Given the description of an element on the screen output the (x, y) to click on. 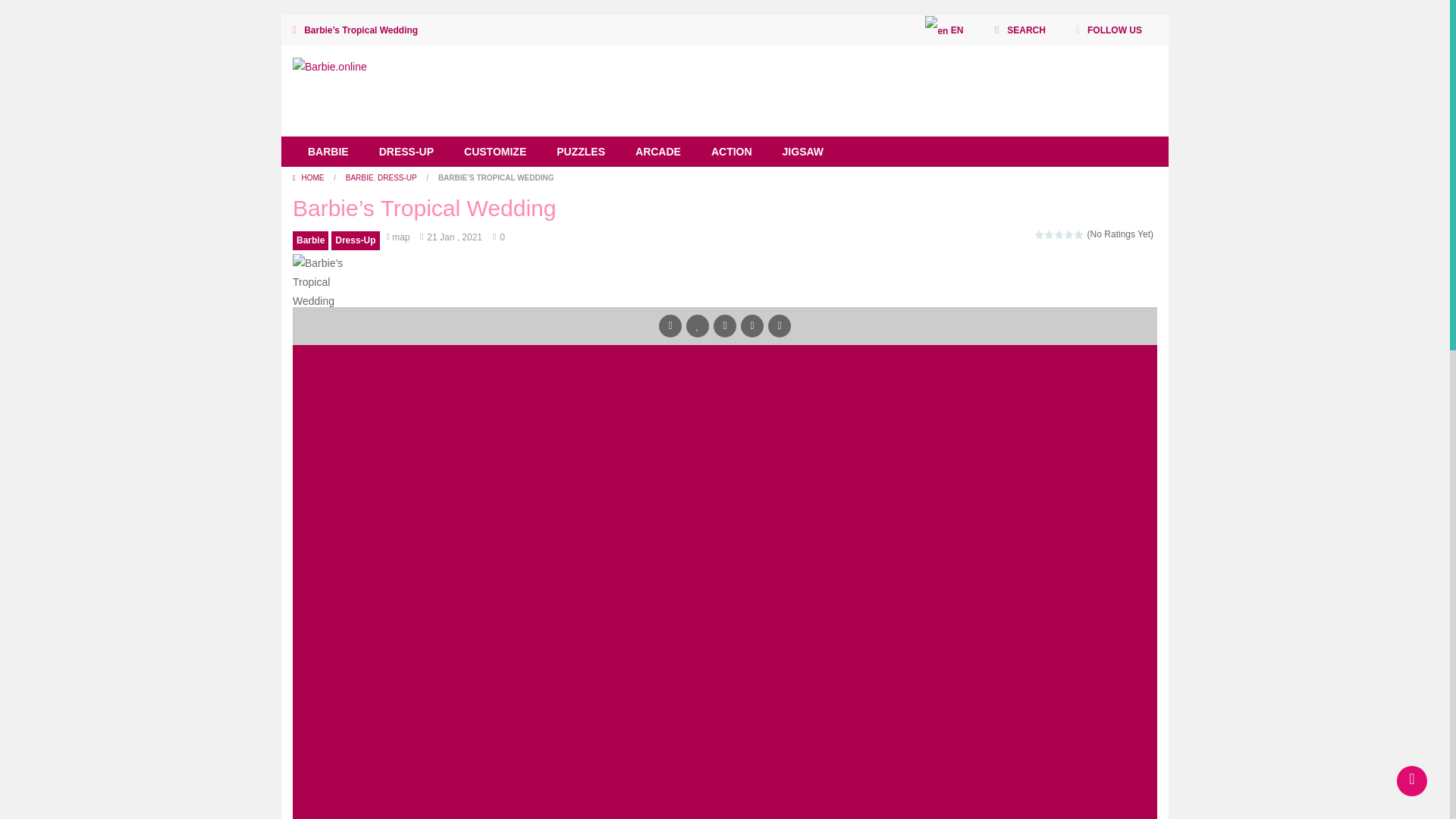
ARCADE (657, 151)
JIGSAW (802, 151)
BARBIE (360, 177)
SEARCH (1019, 30)
HOME (309, 177)
ACTION (731, 151)
BARBIE (328, 151)
English (944, 30)
CUSTOMIZE (494, 151)
PUZZLES (580, 151)
